Given the description of an element on the screen output the (x, y) to click on. 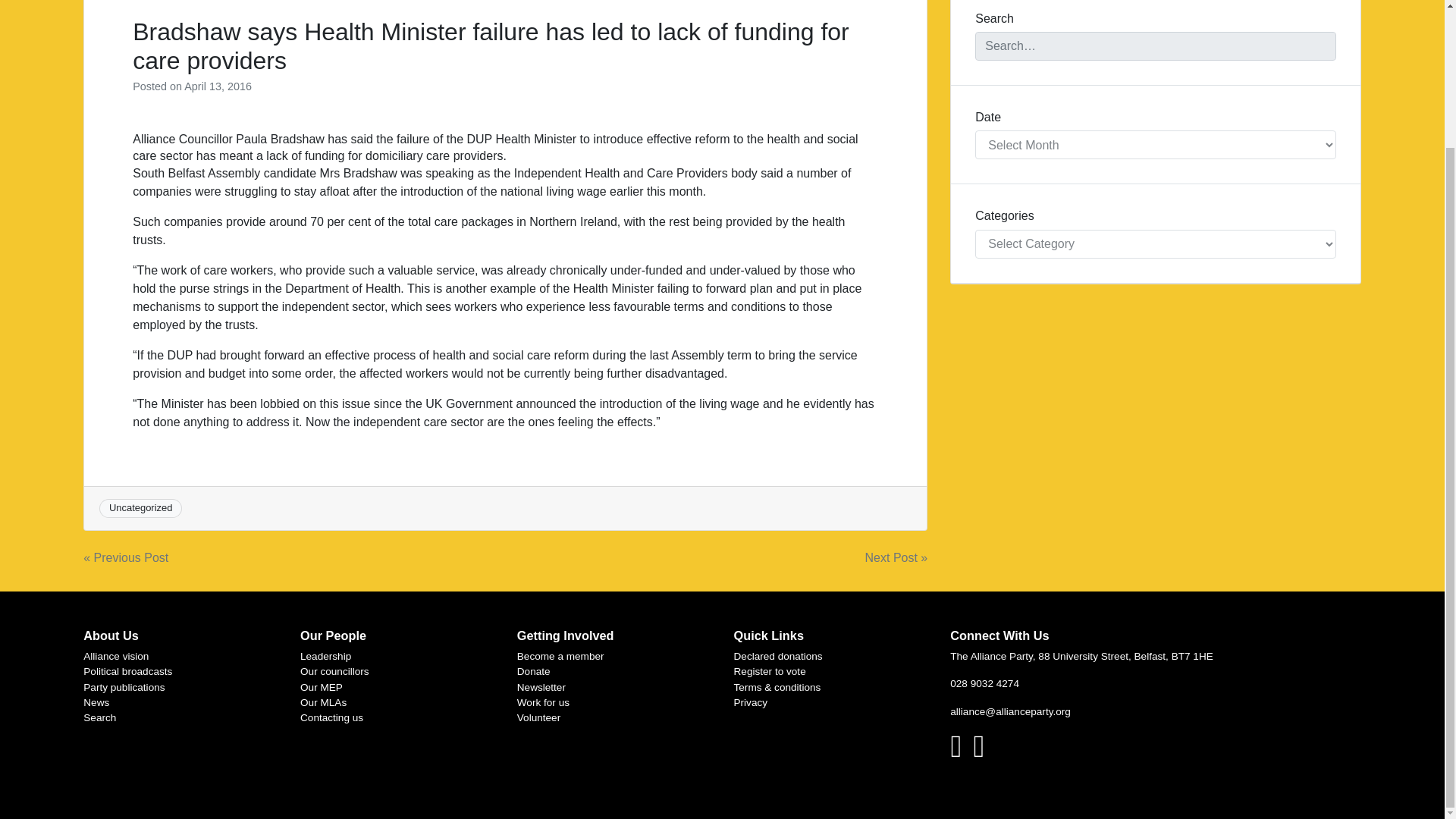
Party publications (123, 686)
Become a member (560, 655)
Privacy (750, 702)
Volunteer (538, 717)
Our councillors (334, 671)
Work for us (542, 702)
Our MLAs (322, 702)
Newsletter (541, 686)
Donate (533, 671)
Declared donations (777, 655)
Leadership (324, 655)
Our MEP (320, 686)
News (95, 702)
Alliance vision (115, 655)
028 9032 4274 (984, 683)
